Given the description of an element on the screen output the (x, y) to click on. 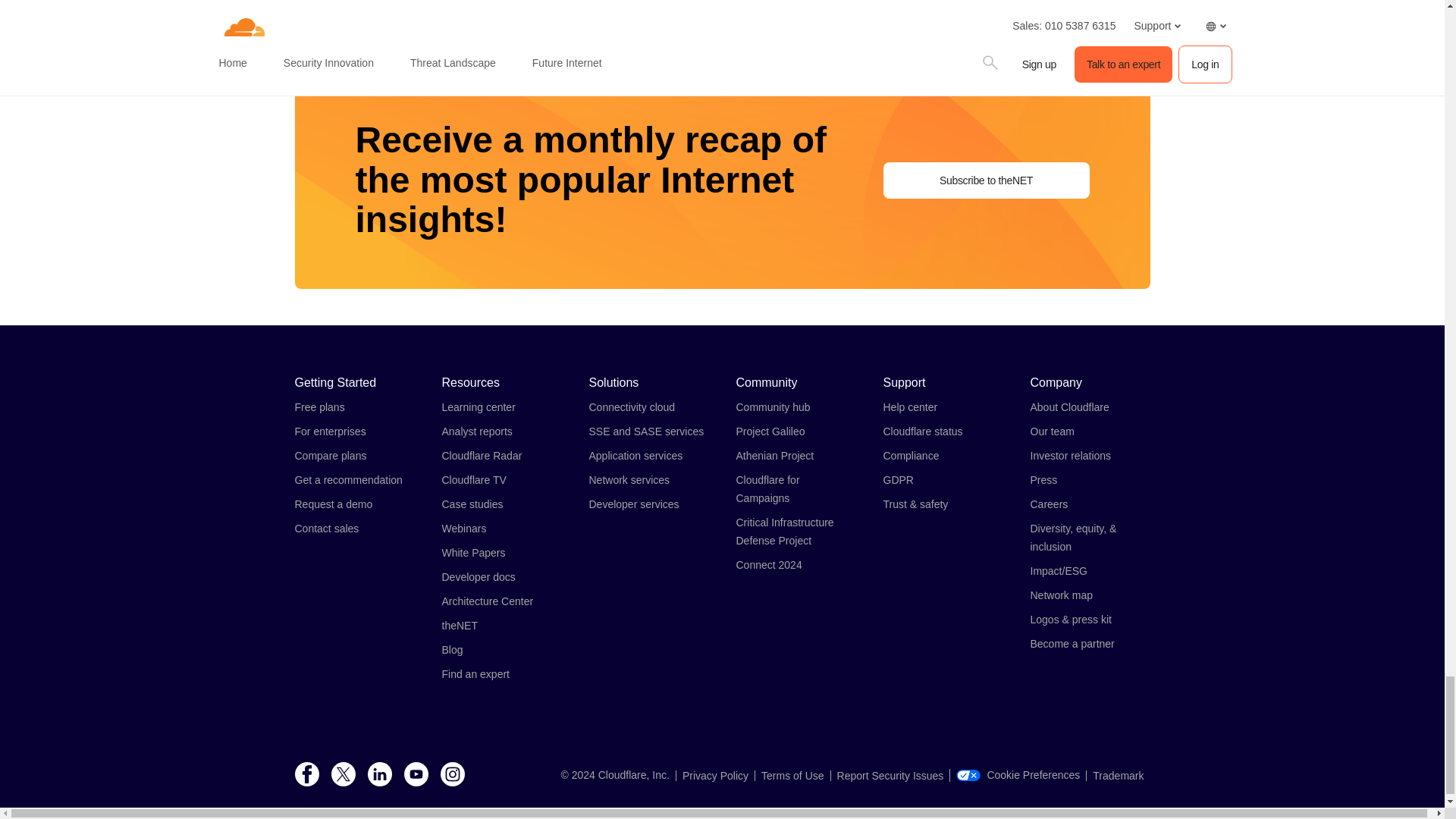
Facebook (306, 775)
Instagram (451, 775)
X (342, 775)
LinkedIn (378, 775)
Youtube (415, 775)
